Given the description of an element on the screen output the (x, y) to click on. 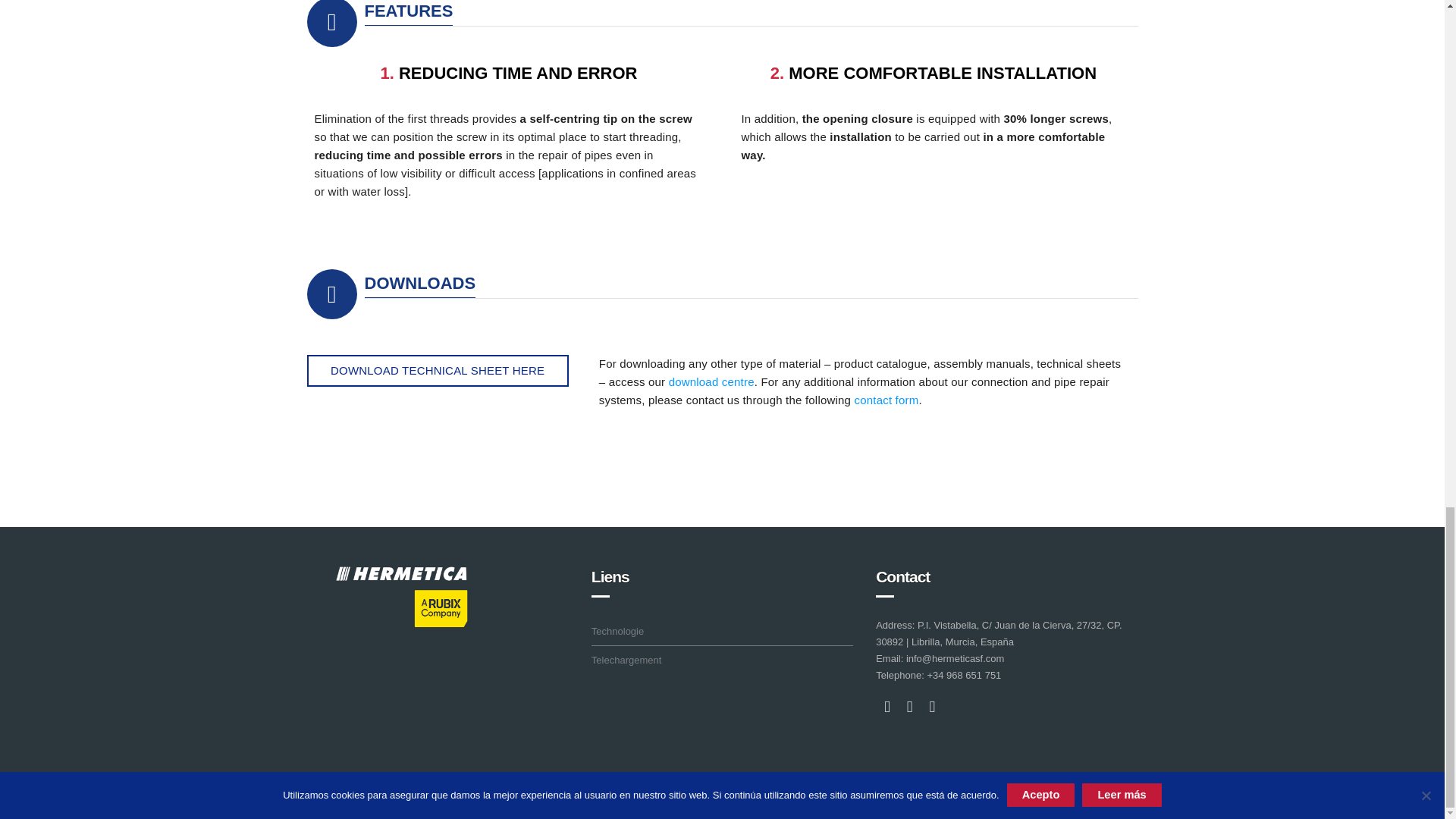
DOWNLOAD TECHNICAL SHEET HERE (436, 370)
contact form (885, 399)
Technologie (619, 630)
download centre (711, 381)
Telechargement (628, 659)
